Given the description of an element on the screen output the (x, y) to click on. 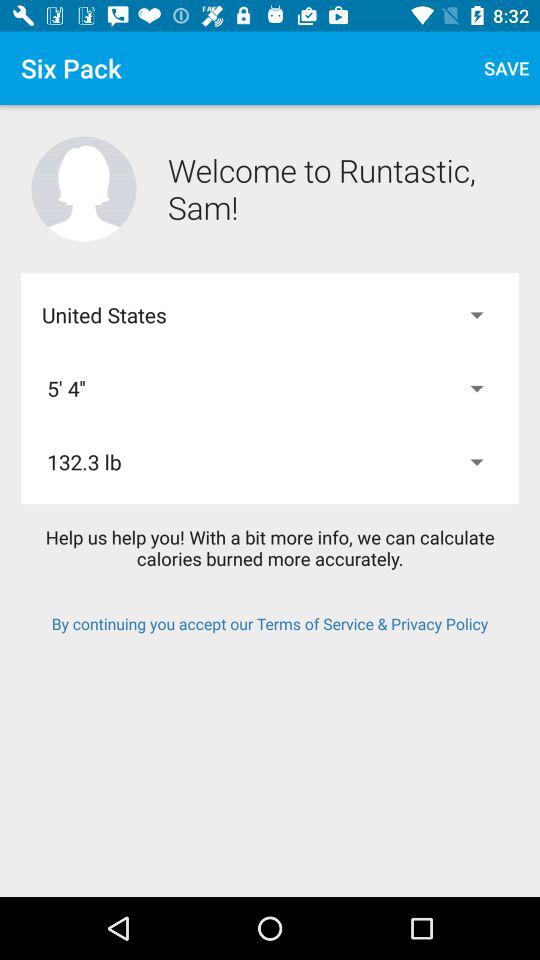
select icon below 5' 4'' (269, 461)
